Given the description of an element on the screen output the (x, y) to click on. 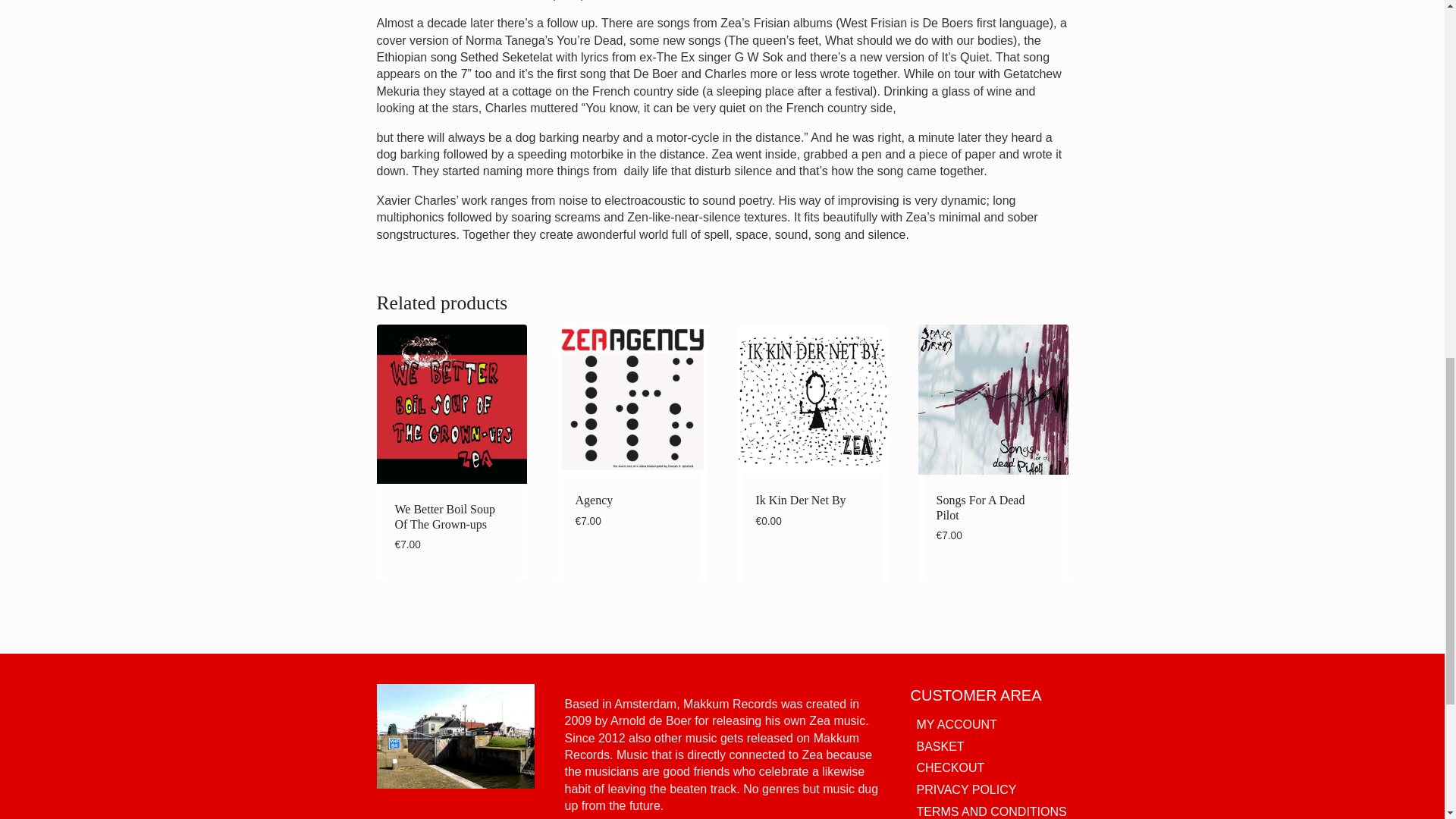
We Better Boil Soup Of The Grown-ups (444, 515)
Agency (593, 499)
